Given the description of an element on the screen output the (x, y) to click on. 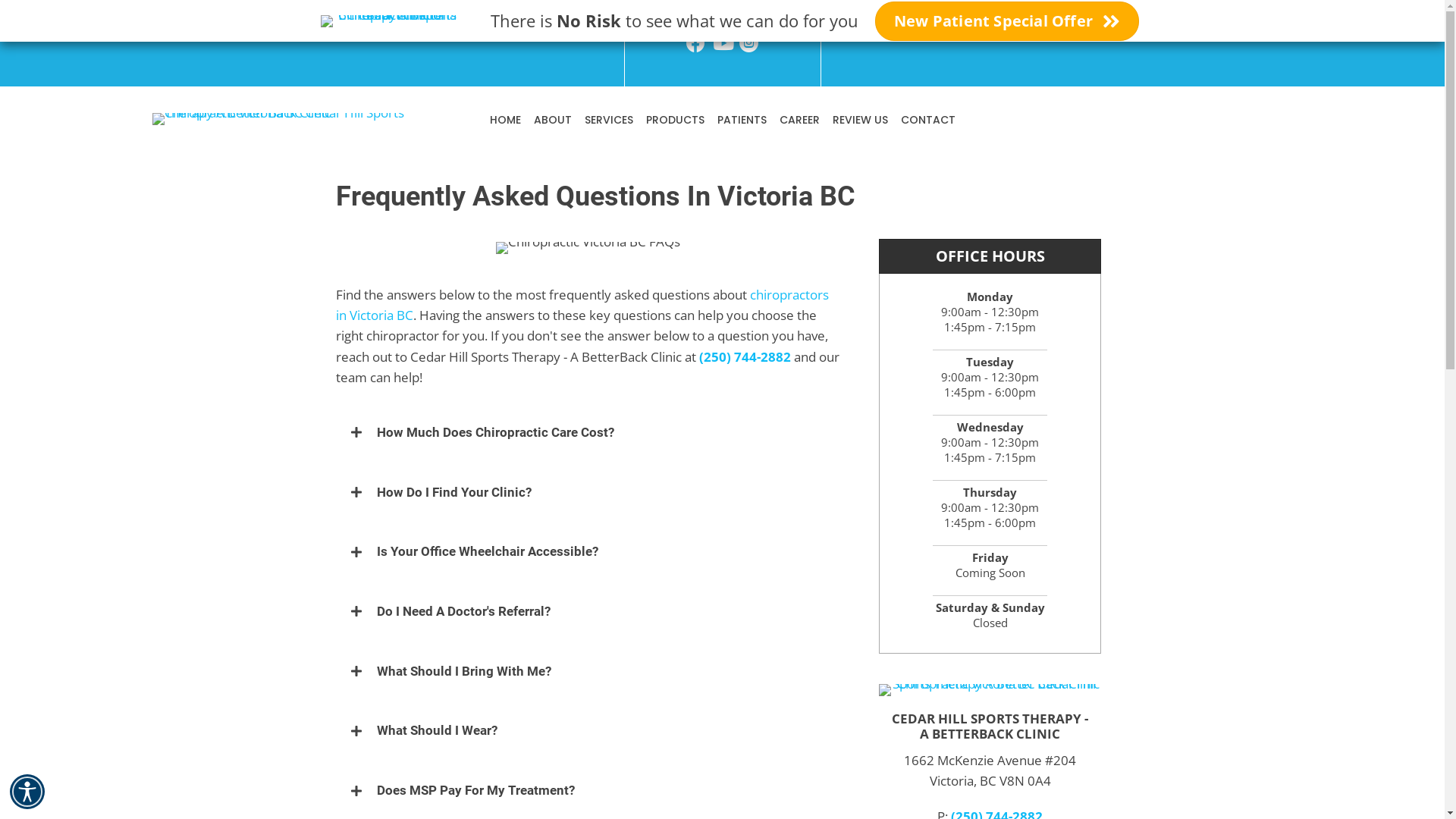
HOME Element type: text (505, 119)
Chiropractic Victoria BC FAQs Element type: hover (587, 247)
CONTACT Element type: text (927, 119)
ABOUT Element type: text (552, 119)
PRODUCTS Element type: text (675, 119)
chiropractors in Victoria BC Element type: text (581, 304)
OFFICE HOURS Element type: text (989, 255)
REVIEW US Element type: text (860, 119)
PATIENTS Element type: text (741, 119)
(250) 744-2882 Element type: text (744, 356)
New Patient Special Offer Element type: text (1007, 20)
CAREER Element type: text (799, 119)
SERVICES Element type: text (607, 119)
